Given the description of an element on the screen output the (x, y) to click on. 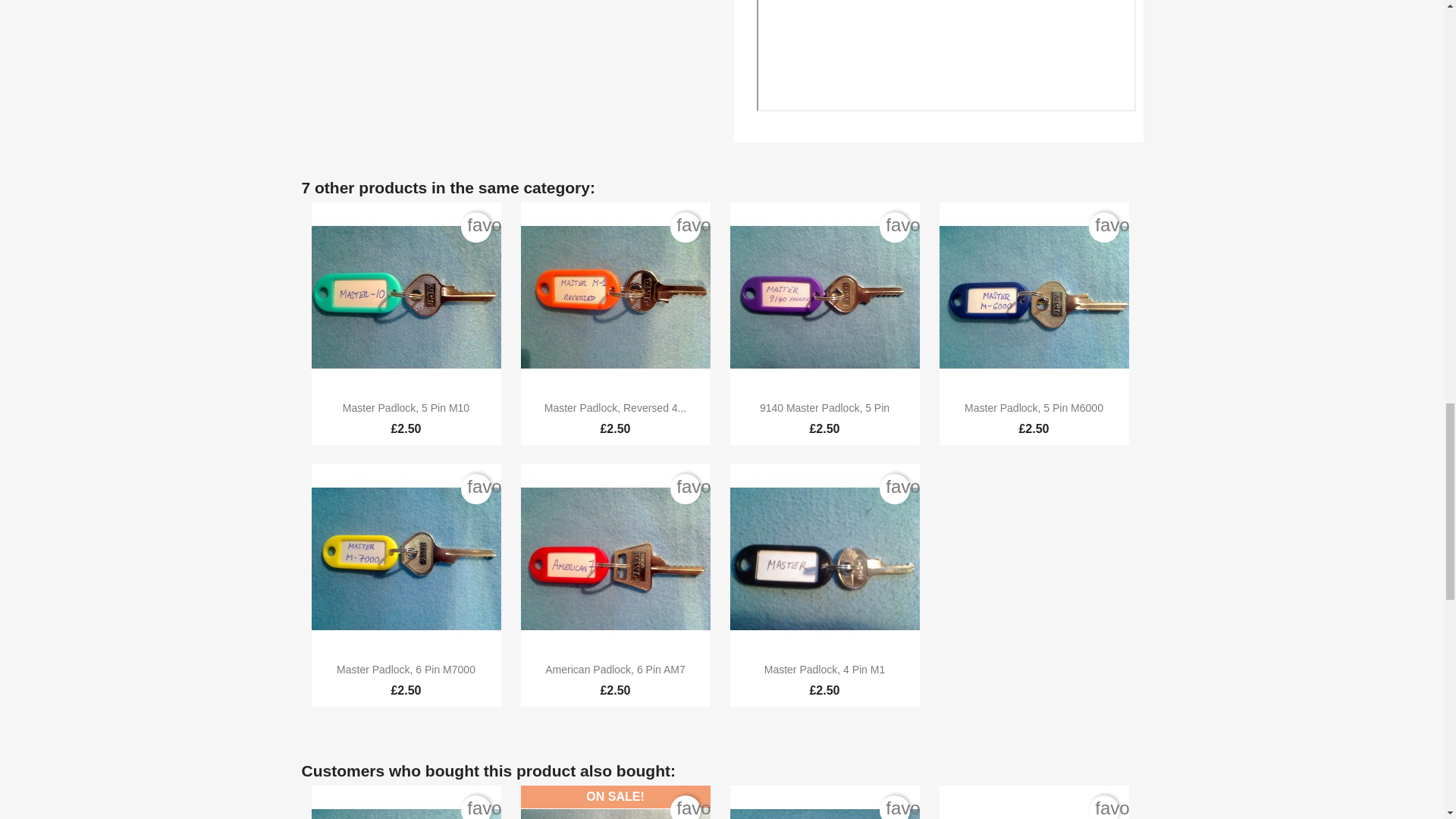
Master Padlock, Reversed 4... (615, 408)
9140 Master Padlock, 5 Pin (824, 408)
Master Padlock, 5 Pin M10 (405, 408)
Master Padlock, 5 Pin M6000 (1033, 408)
